Given the description of an element on the screen output the (x, y) to click on. 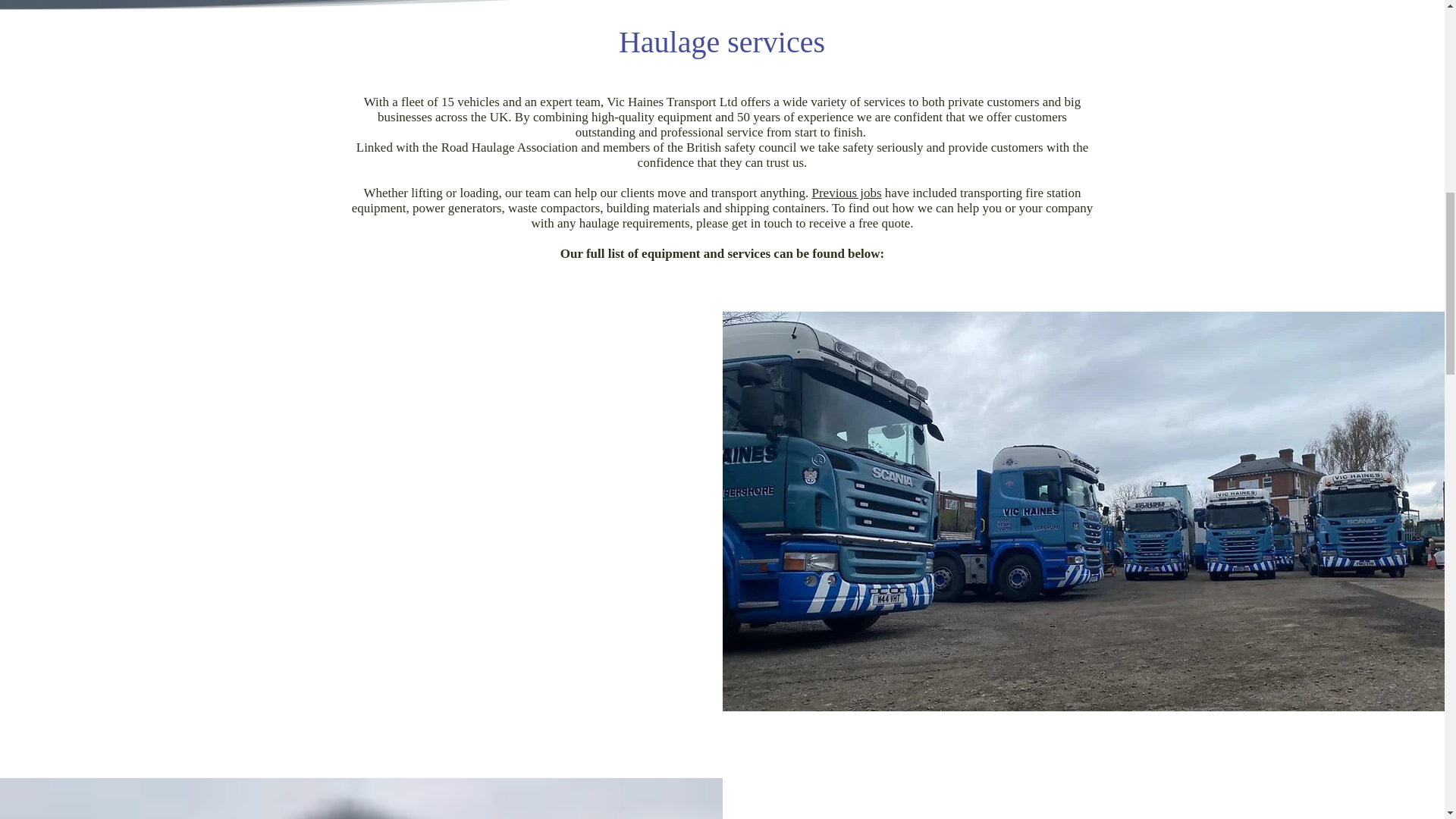
Previous jobs (845, 192)
